Given the description of an element on the screen output the (x, y) to click on. 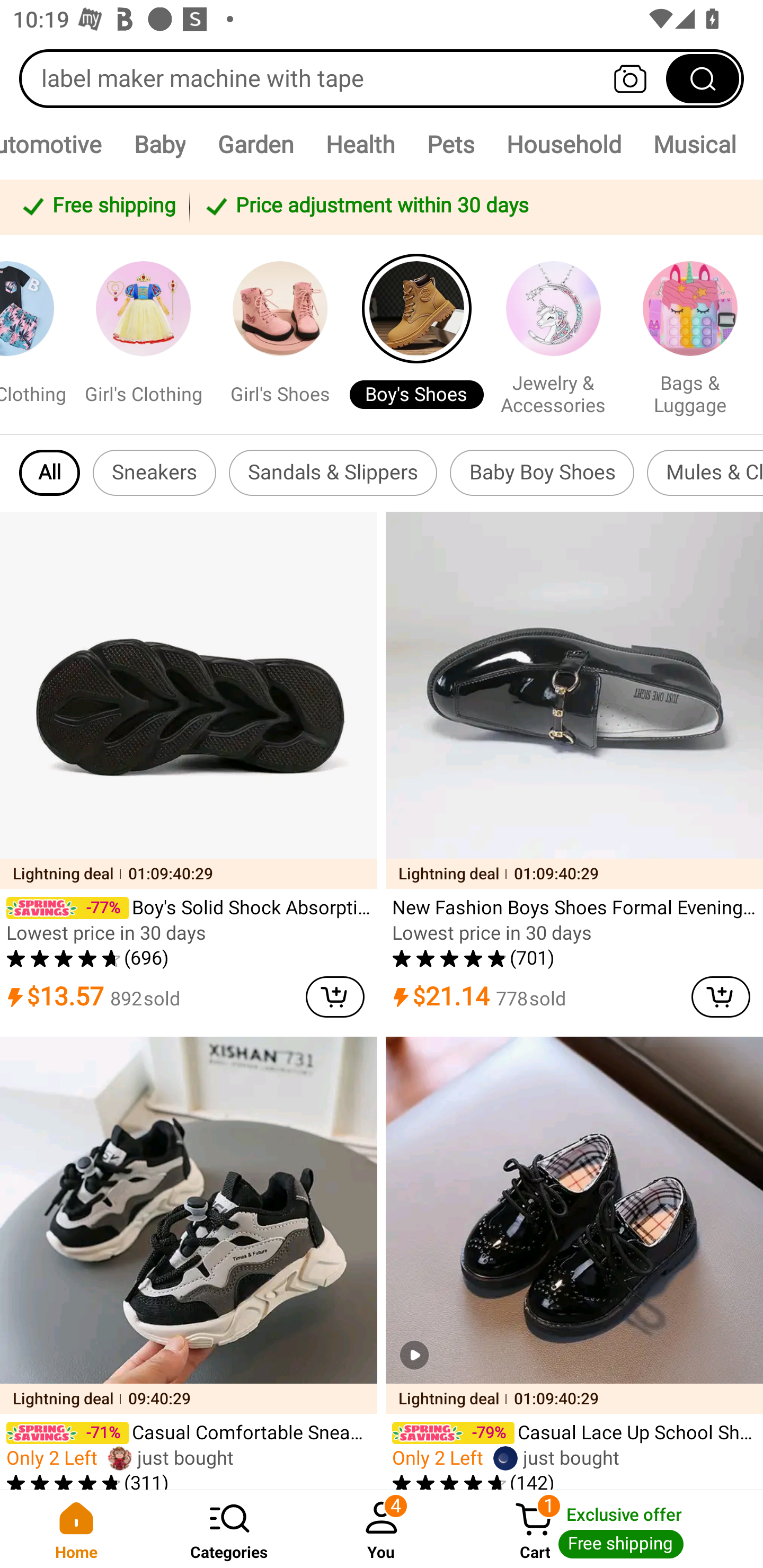
label maker machine with tape (381, 78)
Baby (159, 144)
Garden (255, 144)
Health (359, 144)
Pets (449, 144)
Household (563, 144)
Musical (694, 144)
Free shipping (97, 206)
Price adjustment within 30 days (472, 206)
Boy's Clothing (33, 333)
Girl's Clothing (142, 333)
Girl's Shoes (279, 333)
Boy's Shoes (416, 333)
Jewelry & Accessories (552, 333)
Bags & Luggage (689, 333)
All (49, 472)
Sneakers (154, 472)
Sandals & Slippers (332, 472)
Baby Boy Shoes (542, 472)
Mules & Clogs (705, 472)
cart delete (334, 996)
cart delete (720, 996)
Home (76, 1528)
Categories (228, 1528)
You 4 You (381, 1528)
Cart 1 Cart Exclusive offer (610, 1528)
